Given the description of an element on the screen output the (x, y) to click on. 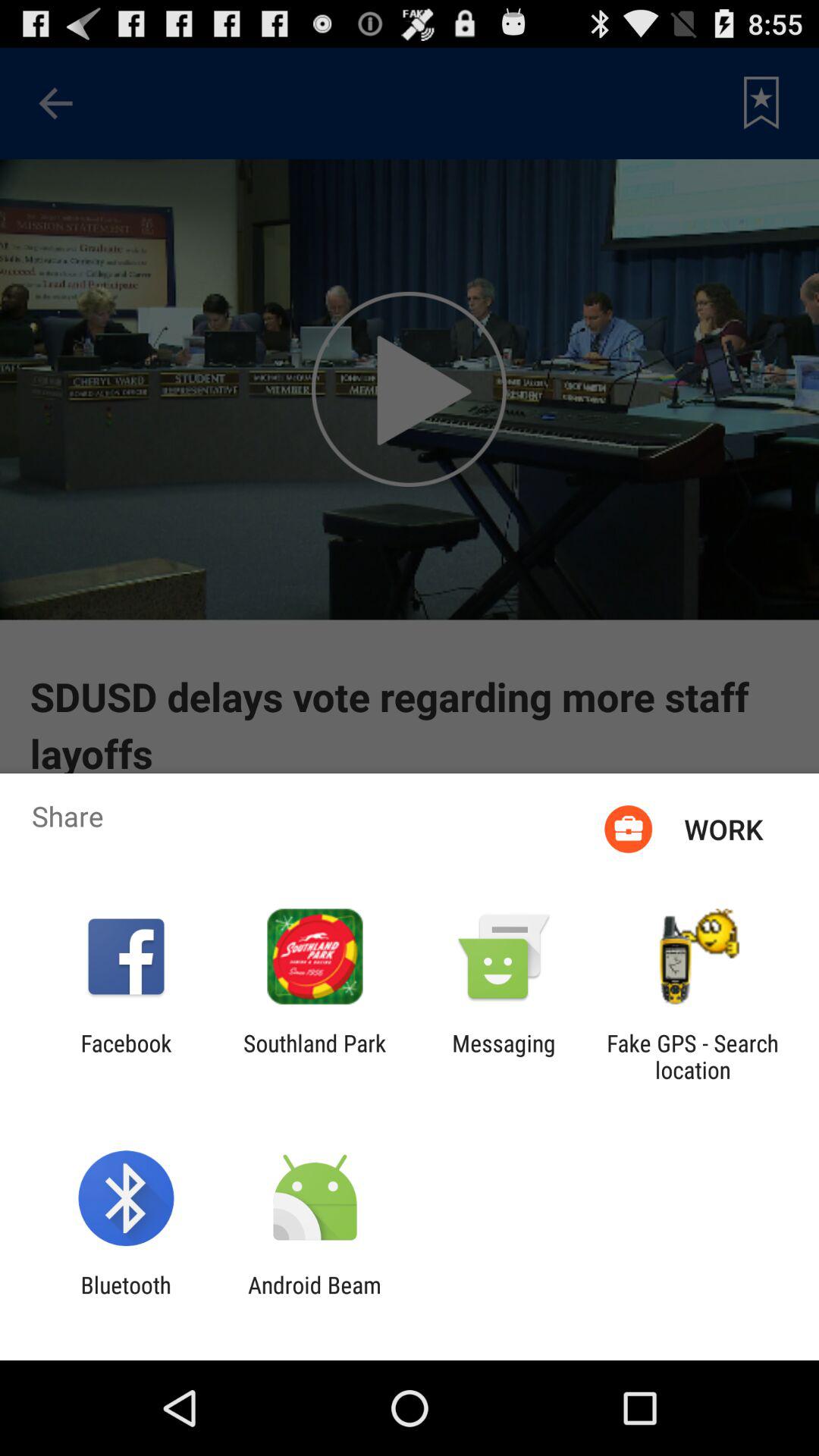
tap item next to fake gps search item (503, 1056)
